Given the description of an element on the screen output the (x, y) to click on. 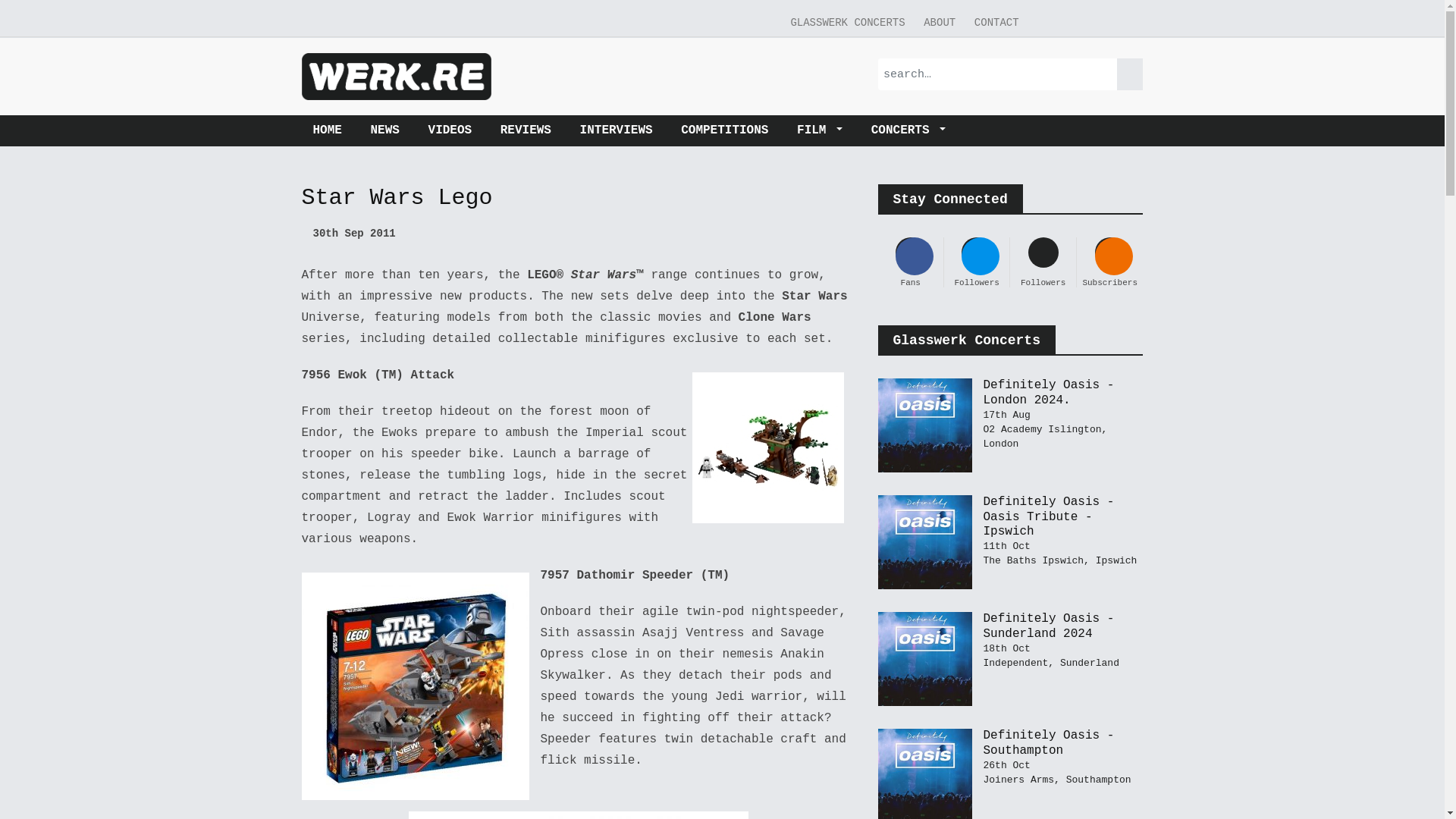
REVIEWS (525, 130)
Reviews (525, 130)
FILM (819, 130)
Film (819, 130)
Competitions (723, 130)
30th Sep 2011 (348, 233)
Home (332, 130)
INTERVIEWS (616, 130)
CONCERTS (908, 130)
NEWS (384, 130)
